Given the description of an element on the screen output the (x, y) to click on. 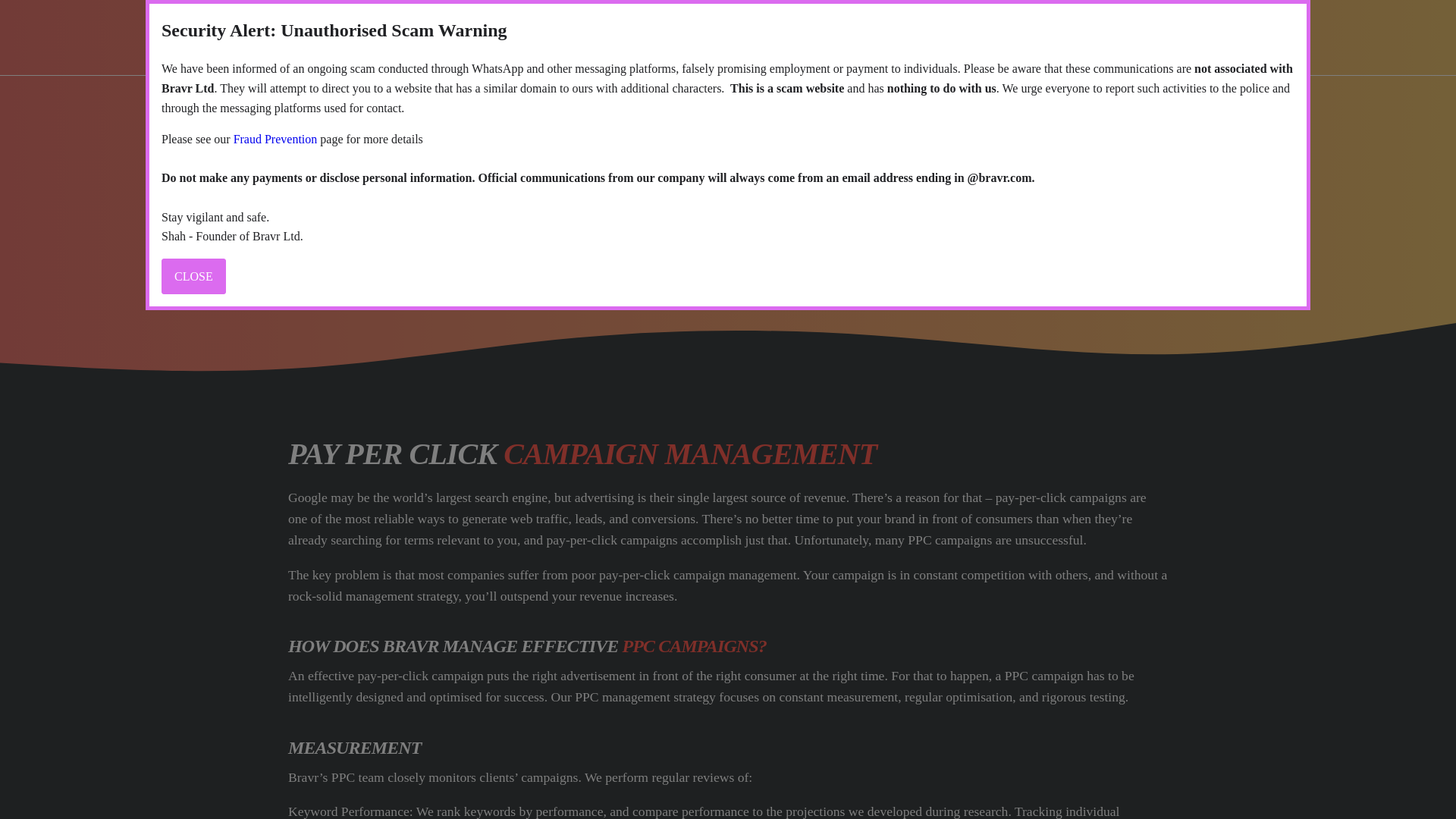
LEARN ABOUT SEO (930, 36)
CONTACT (1116, 37)
WEBSITE (791, 36)
SEO (632, 36)
ABOUT US (542, 36)
PAID (702, 36)
